Given the description of an element on the screen output the (x, y) to click on. 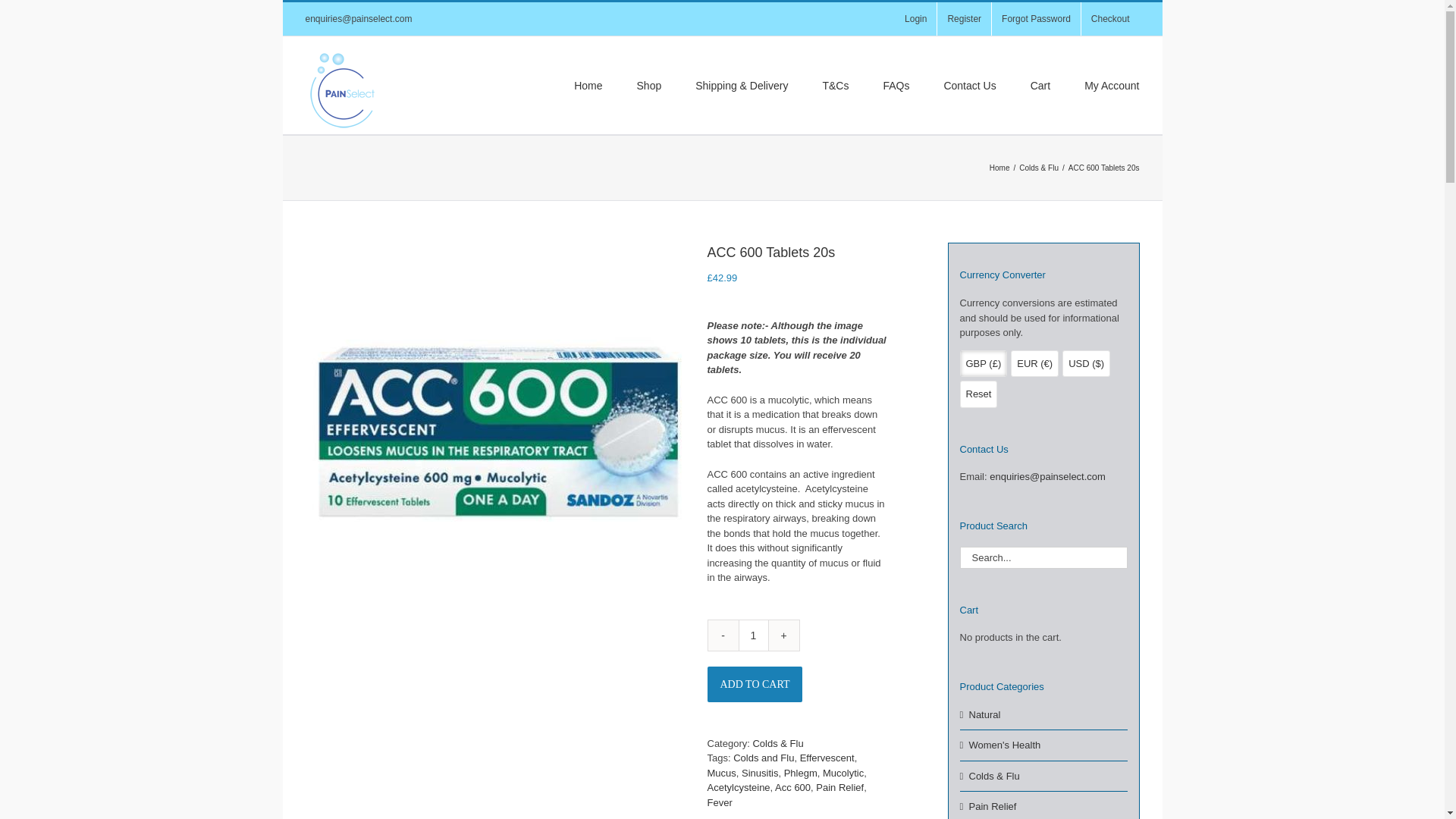
Login (915, 19)
My Account (1111, 84)
Register (964, 19)
Checkout (1110, 19)
Original price:42.99 (721, 277)
FAQs (895, 84)
Forgot Password (1035, 19)
1 (753, 634)
- (722, 634)
Home (587, 84)
Shop (649, 84)
Log In (1181, 232)
Cart (1039, 84)
Contact Us (969, 84)
